Given the description of an element on the screen output the (x, y) to click on. 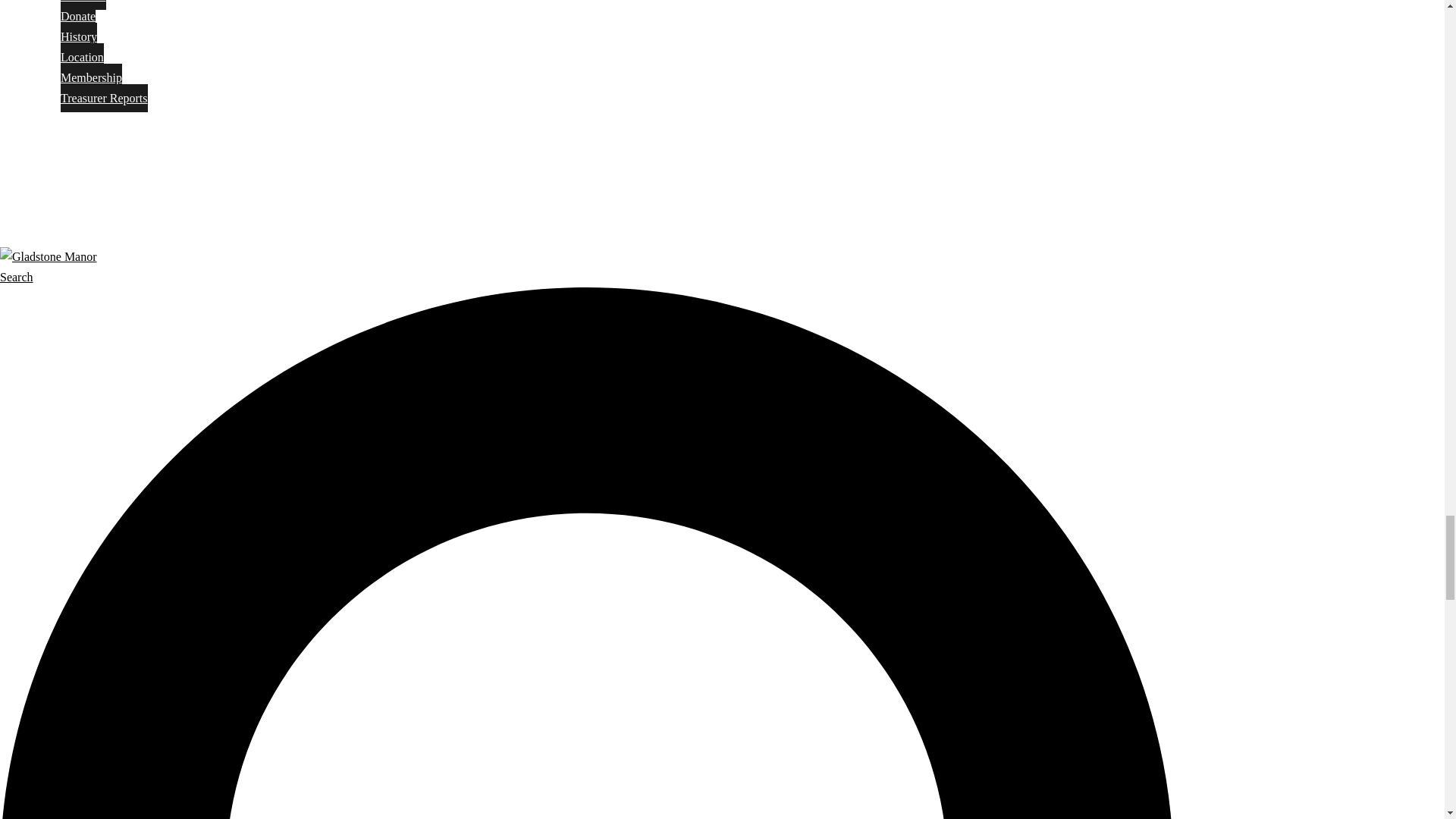
Events (48, 188)
Directors (83, 4)
History (79, 36)
Contact (51, 211)
Membership (91, 77)
Community (63, 142)
Treasurer Reports (104, 98)
Why Lansdowne? (79, 119)
Gladstone Manor Officers (83, 4)
Donate to Gladstone Manor (78, 16)
Volunteer (56, 165)
Donate (78, 16)
Location (82, 57)
Gladstone Manor History (79, 36)
